Given the description of an element on the screen output the (x, y) to click on. 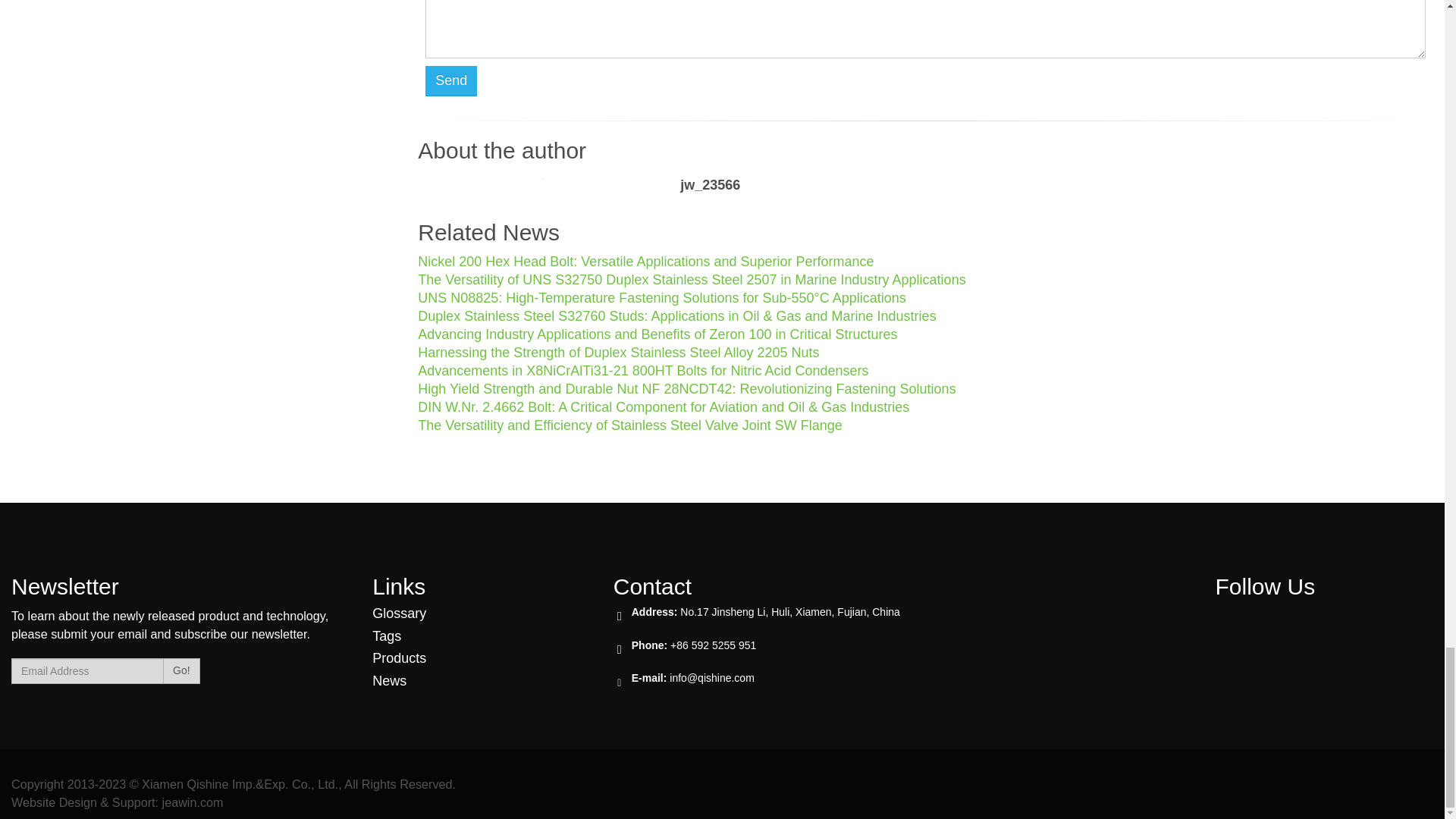
Send (451, 81)
